Given the description of an element on the screen output the (x, y) to click on. 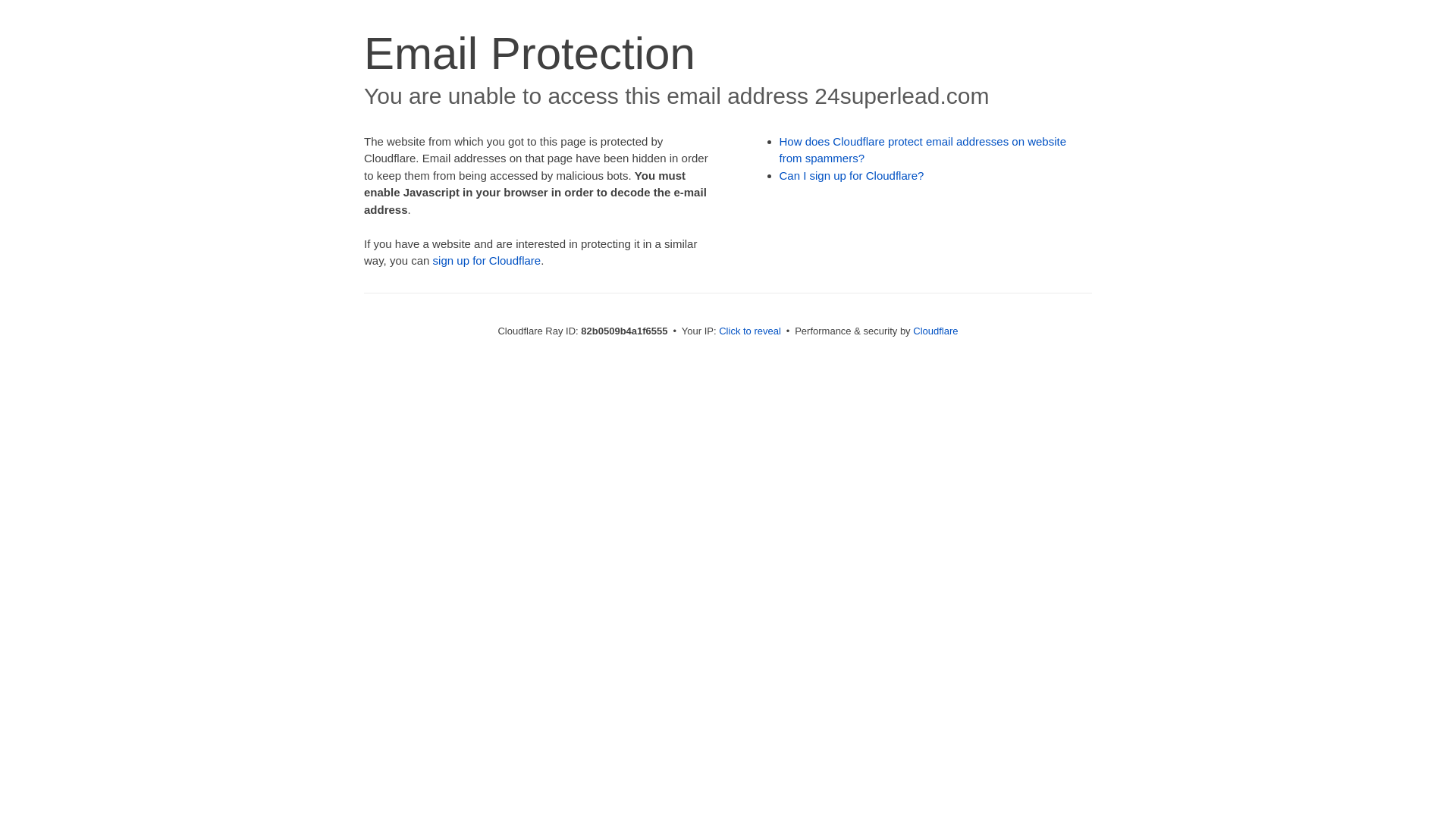
Can I sign up for Cloudflare? Element type: text (851, 175)
Cloudflare Element type: text (935, 330)
Click to reveal Element type: text (749, 330)
sign up for Cloudflare Element type: text (487, 260)
